Given the description of an element on the screen output the (x, y) to click on. 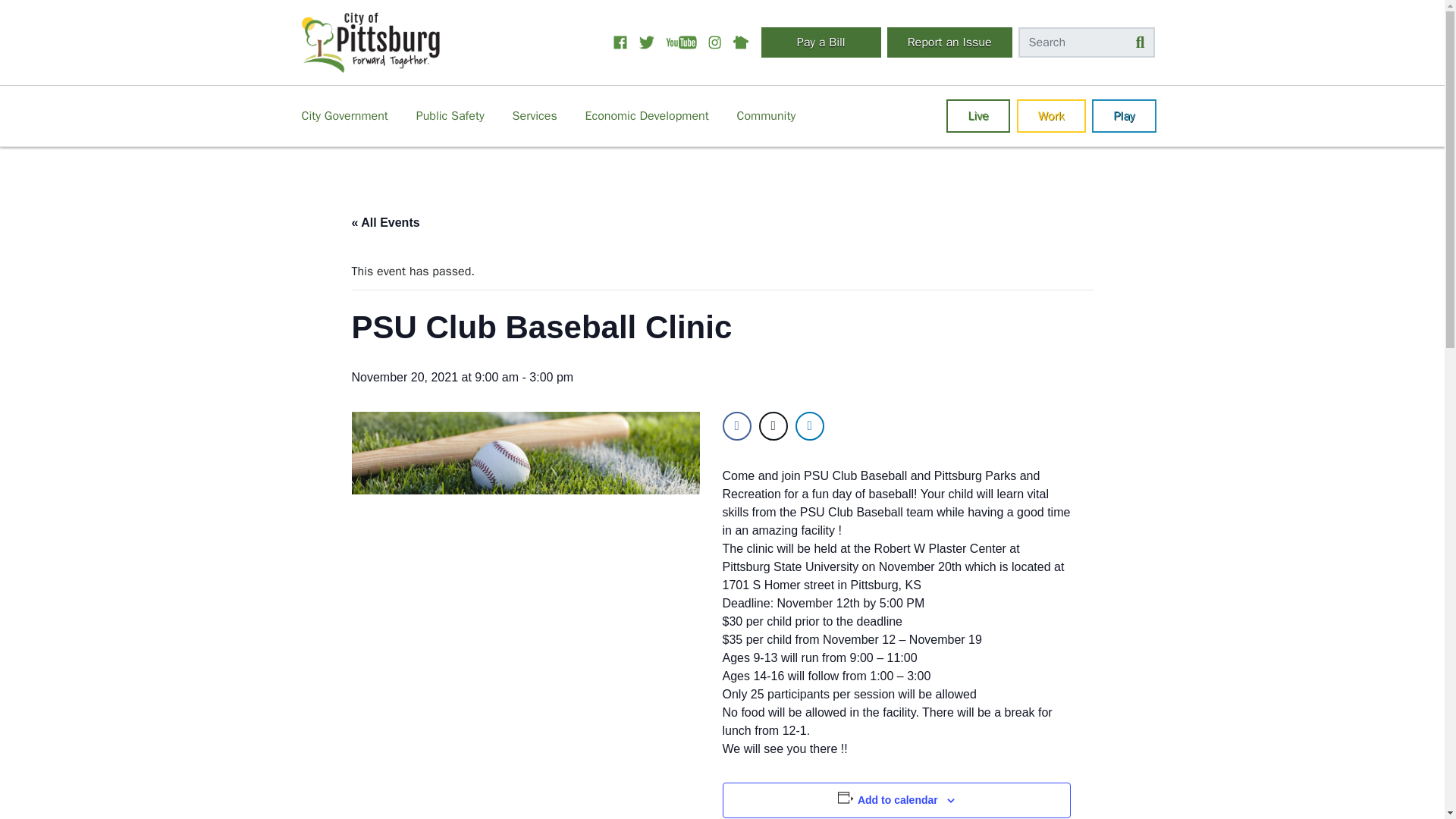
Economic Development (647, 115)
City Government (344, 115)
Work (1050, 115)
Search (1085, 42)
Community (766, 115)
Services (534, 115)
Pay a Bill (820, 42)
Public Safety (450, 115)
Play (1123, 115)
Report an Issue (948, 42)
Live (977, 115)
